Given the description of an element on the screen output the (x, y) to click on. 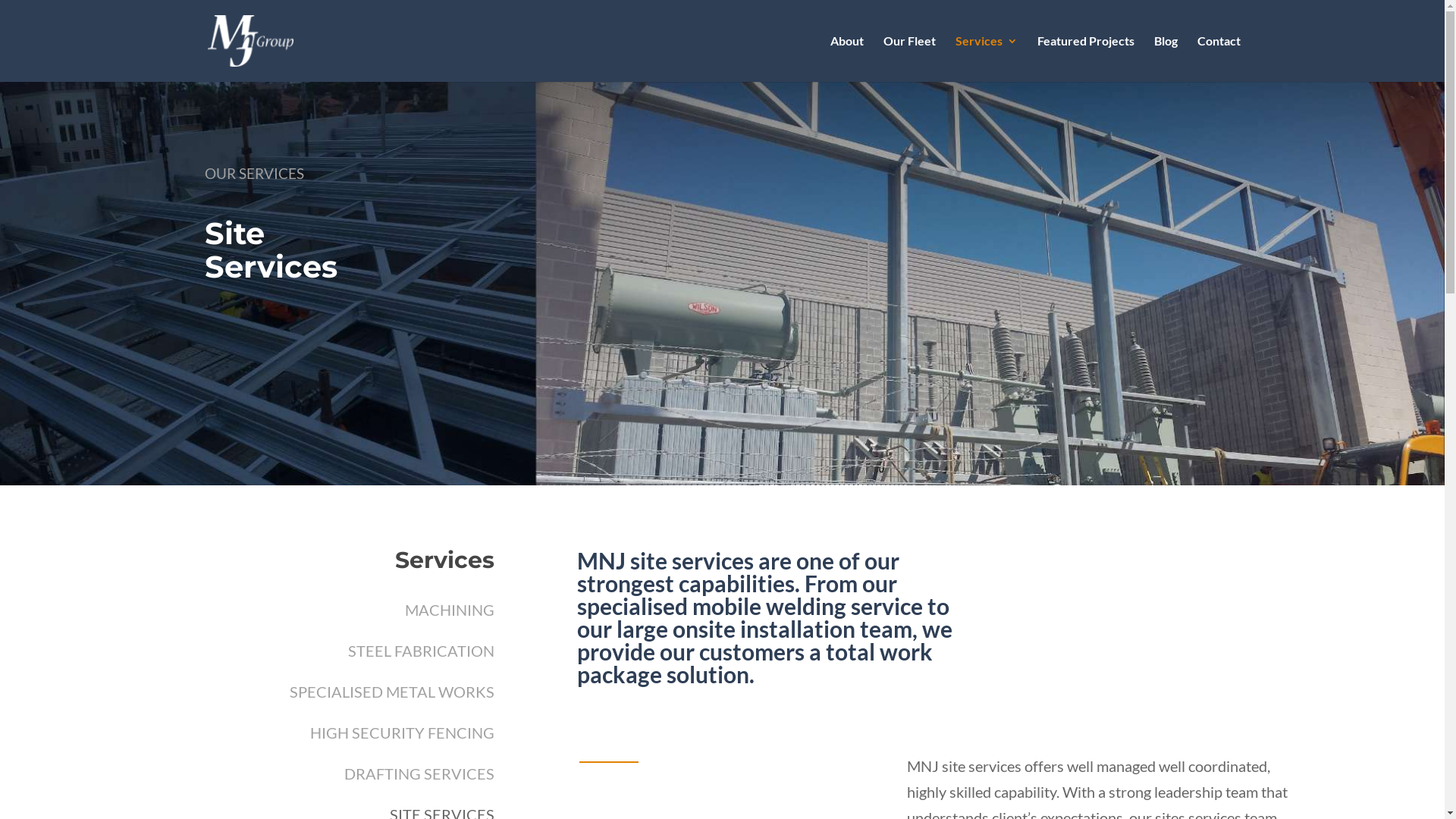
HIGH SECURITY FENCING Element type: text (402, 732)
Contact Element type: text (1217, 58)
STEEL FABRICATION Element type: text (421, 650)
Our Fleet Element type: text (908, 58)
About Element type: text (845, 58)
Blog Element type: text (1165, 58)
SPECIALISED METAL WORKS Element type: text (391, 691)
Featured Projects Element type: text (1085, 58)
DRAFTING SERVICES Element type: text (419, 773)
Services Element type: text (986, 58)
MACHINING Element type: text (449, 609)
